Given the description of an element on the screen output the (x, y) to click on. 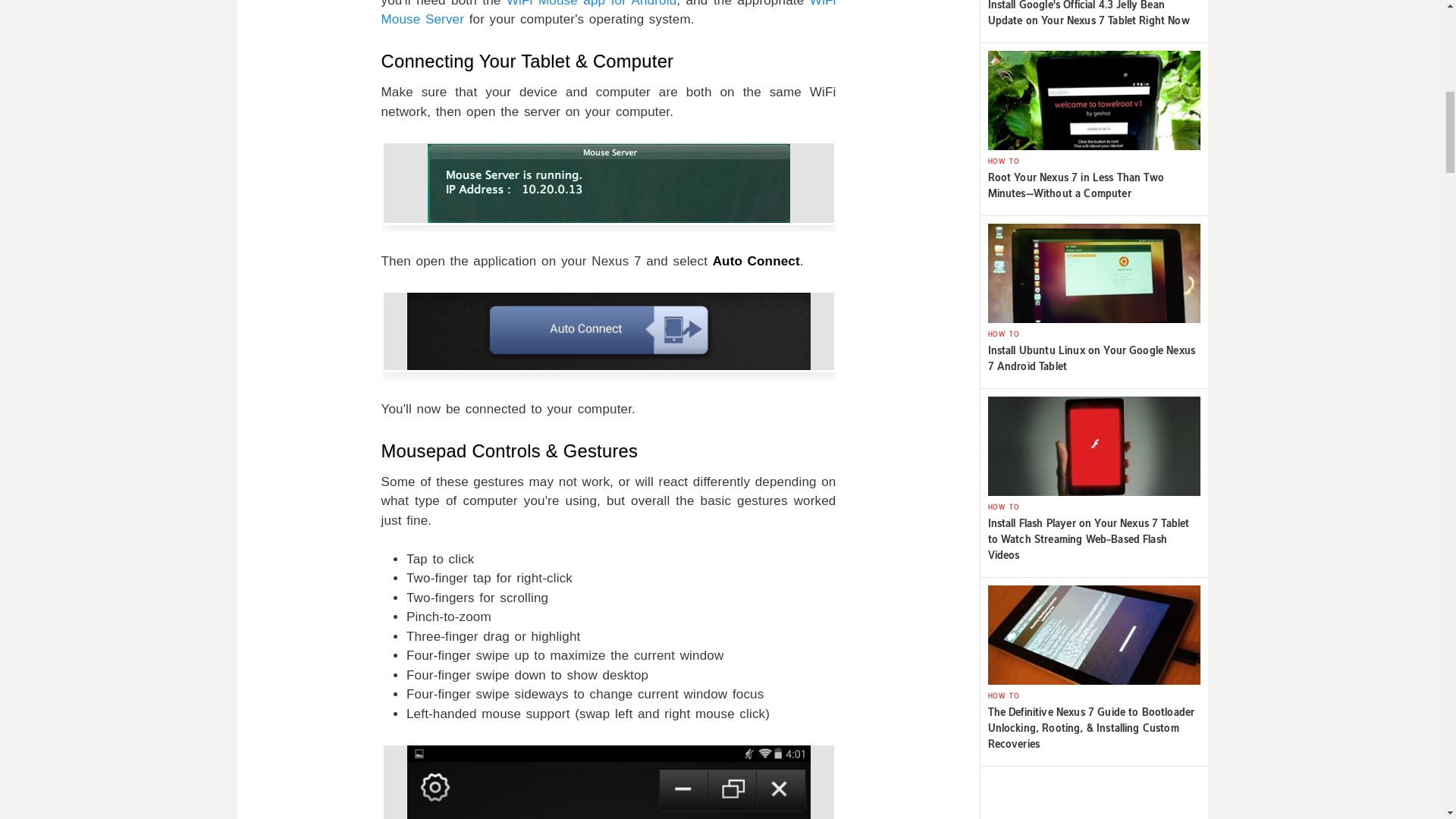
WiFi Mouse Server (607, 13)
WiFi Mouse app for Android (591, 3)
